Given the description of an element on the screen output the (x, y) to click on. 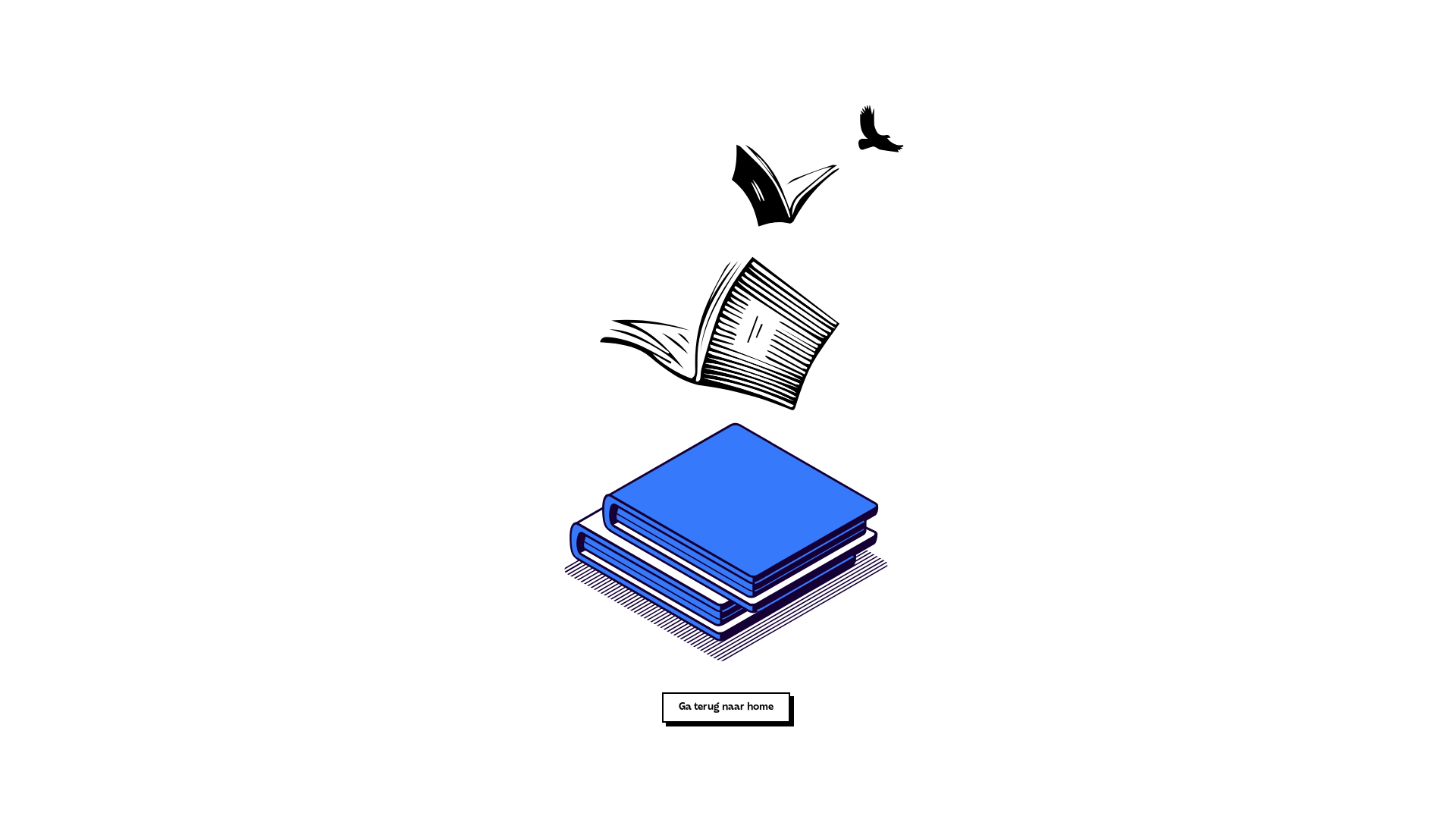
Ga terug naar home Element type: text (726, 707)
Ga terug naar home Element type: text (729, 711)
Ga terug naar home
Ga terug naar home Element type: text (727, 711)
